Given the description of an element on the screen output the (x, y) to click on. 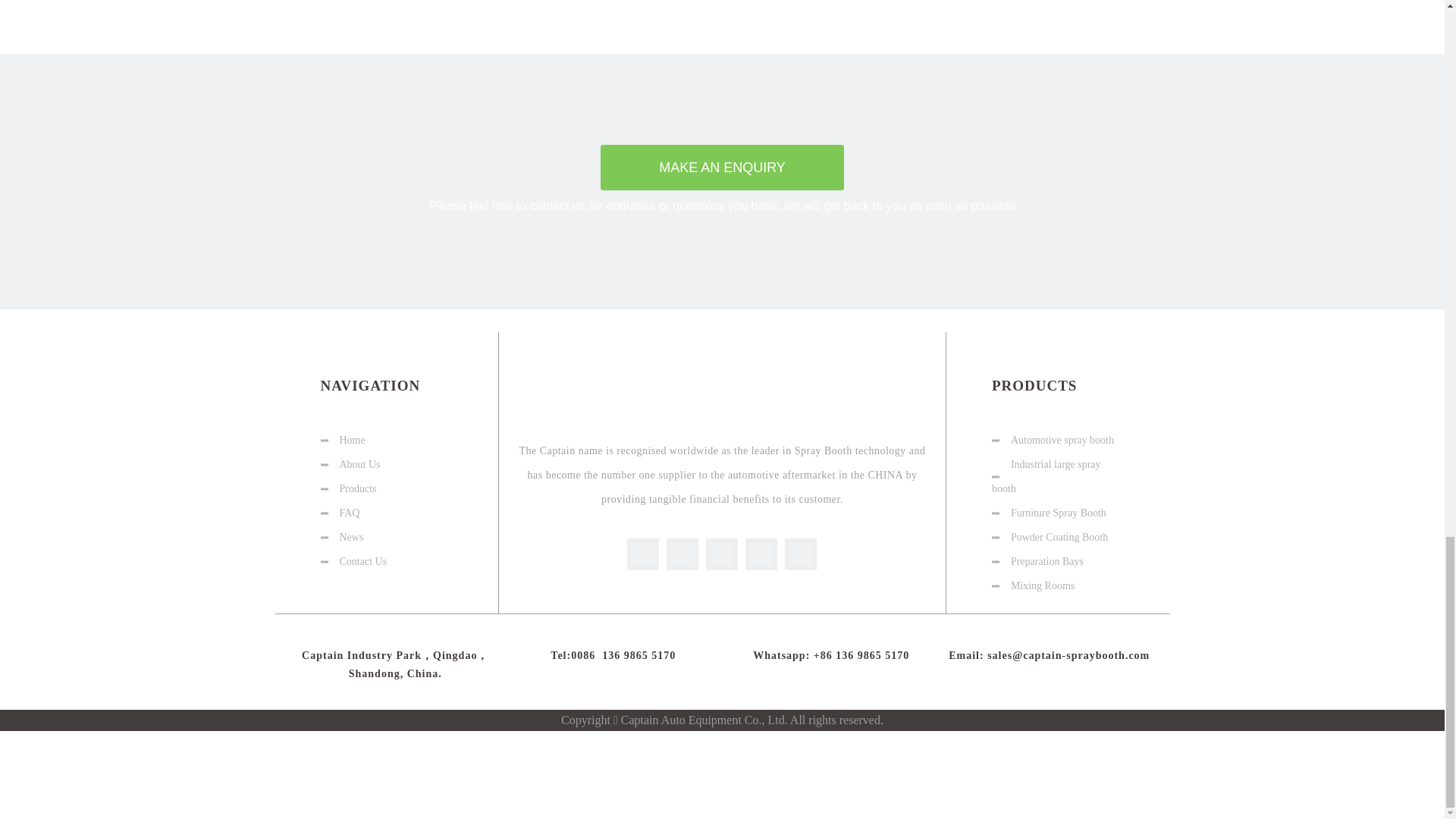
Facebook (643, 554)
Twitter (722, 554)
Linkedin (682, 554)
News (351, 536)
Contact Us (363, 561)
FAQ (349, 512)
Products (358, 488)
Home (352, 439)
About Us (359, 464)
Youtube (761, 554)
